Given the description of an element on the screen output the (x, y) to click on. 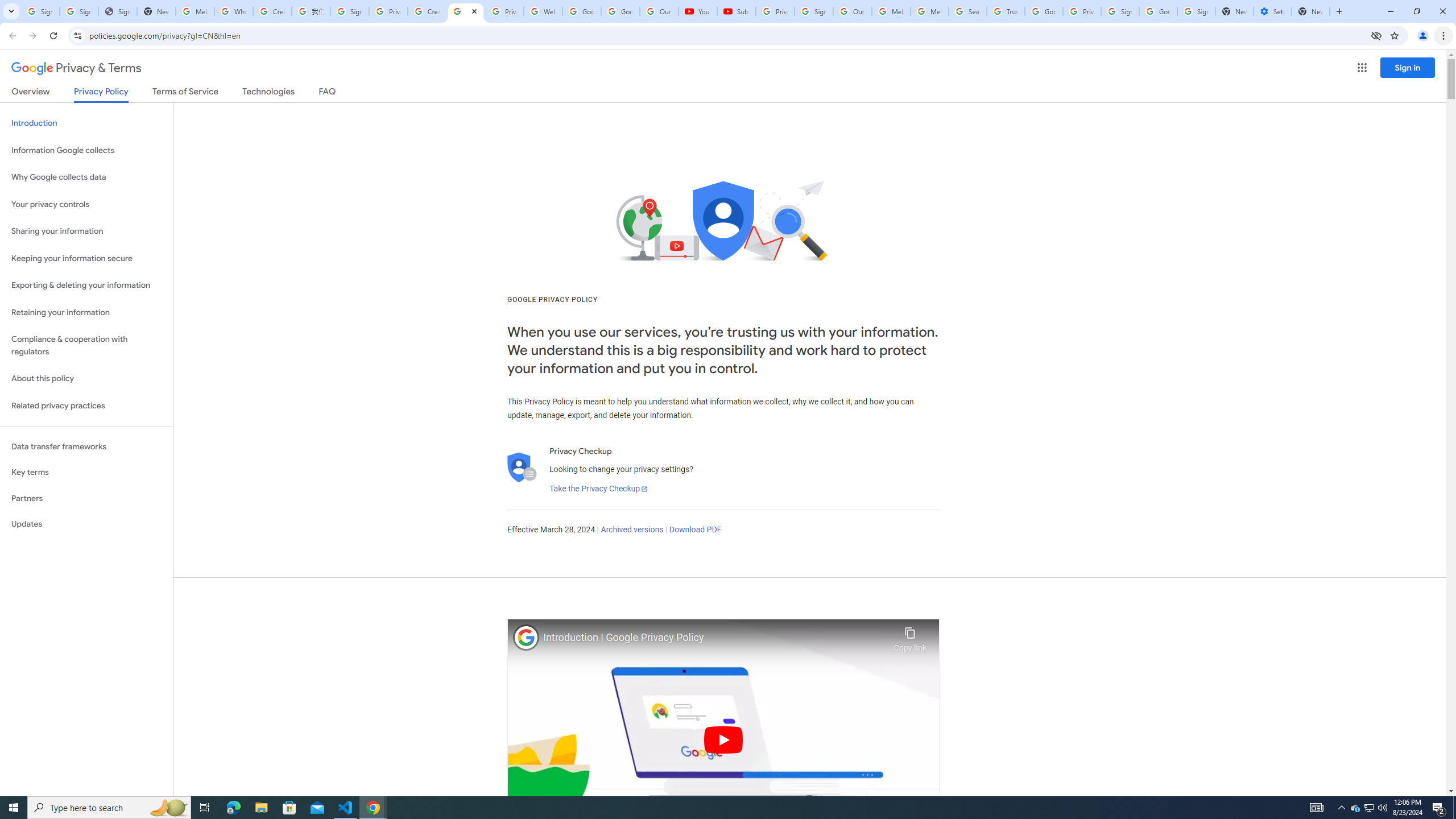
Sign in - Google Accounts (1120, 11)
Why Google collects data (86, 176)
Settings - Addresses and more (1272, 11)
Trusted Information and Content - Google Safety Center (1005, 11)
Information Google collects (86, 150)
Retaining your information (86, 312)
Sharing your information (86, 230)
Sign In - USA TODAY (117, 11)
